Given the description of an element on the screen output the (x, y) to click on. 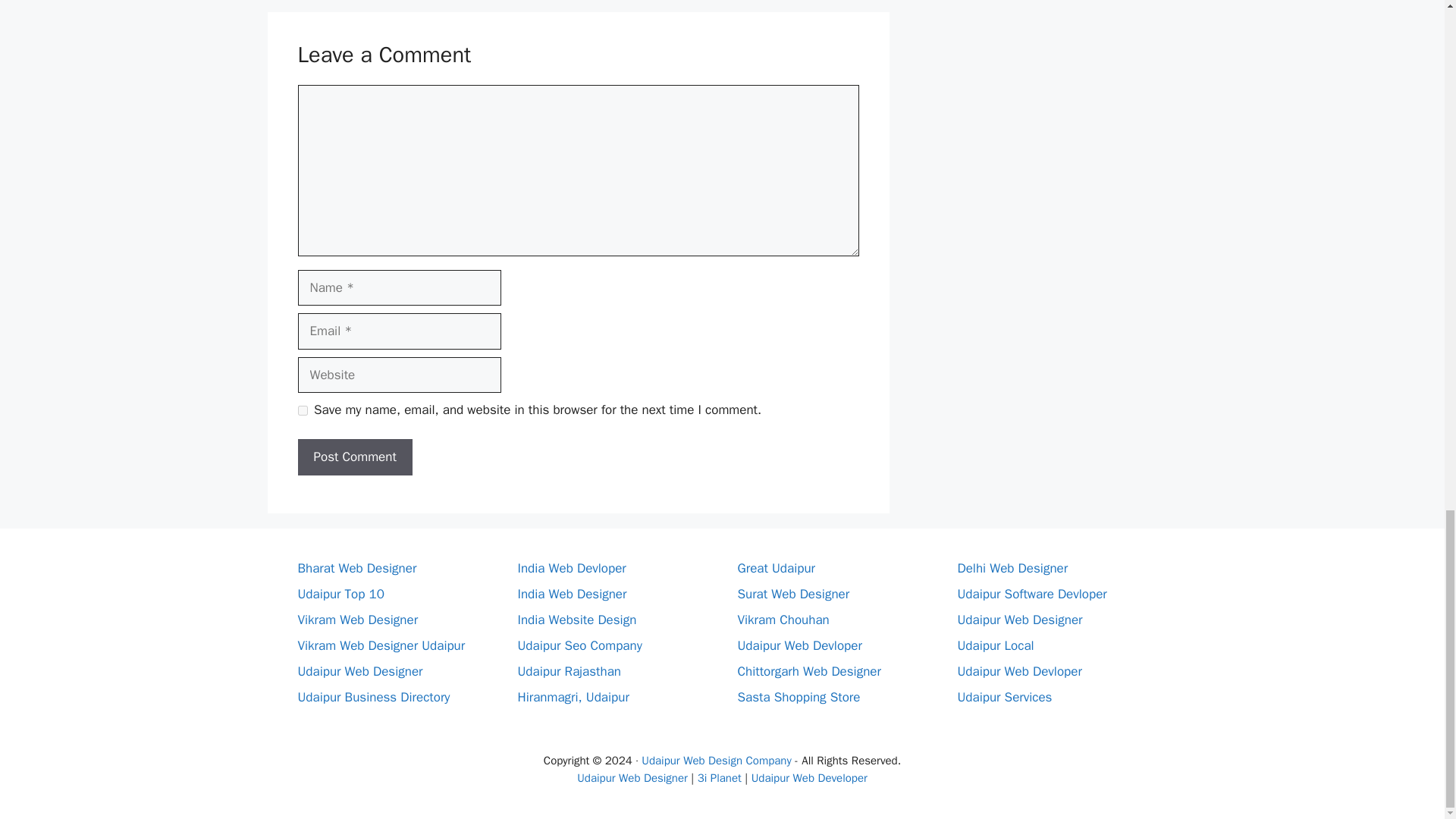
Post Comment (354, 456)
Bharat Web Designer (356, 568)
Vikram Web Designer (357, 619)
yes (302, 410)
Vikram Web Designer Udaipur (380, 645)
Udaipur Top 10 (340, 593)
Web Design Company Udaipur (719, 777)
Post Comment (354, 456)
Scroll back to top (1406, 165)
Udaipur Web Designer (359, 671)
